Given the description of an element on the screen output the (x, y) to click on. 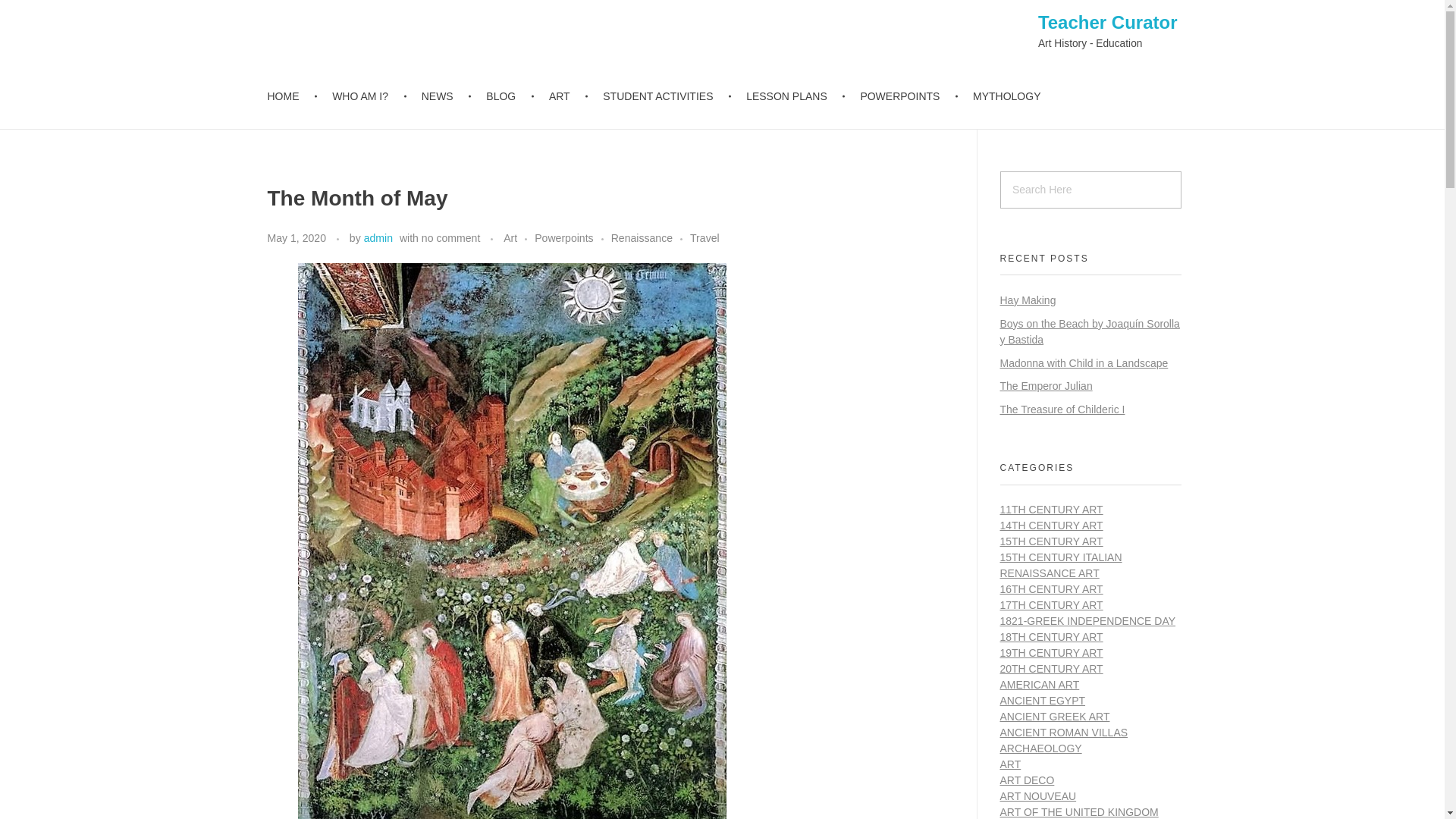
NEWS (439, 96)
18TH CENTURY ART (1050, 636)
15TH CENTURY ART (1050, 541)
The Treasure of Childeric I (1061, 409)
15TH CENTURY ITALIAN RENAISSANCE ART (1059, 565)
Search (42, 13)
Art (518, 238)
STUDENT ACTIVITIES (660, 96)
The Emperor Julian (1045, 386)
1821-GREEK INDEPENDENCE DAY (1086, 621)
AMERICAN ART (1038, 684)
Travel (704, 238)
BLOG (503, 96)
WHO AM I? (362, 96)
16TH CENTURY ART (1050, 589)
